Given the description of an element on the screen output the (x, y) to click on. 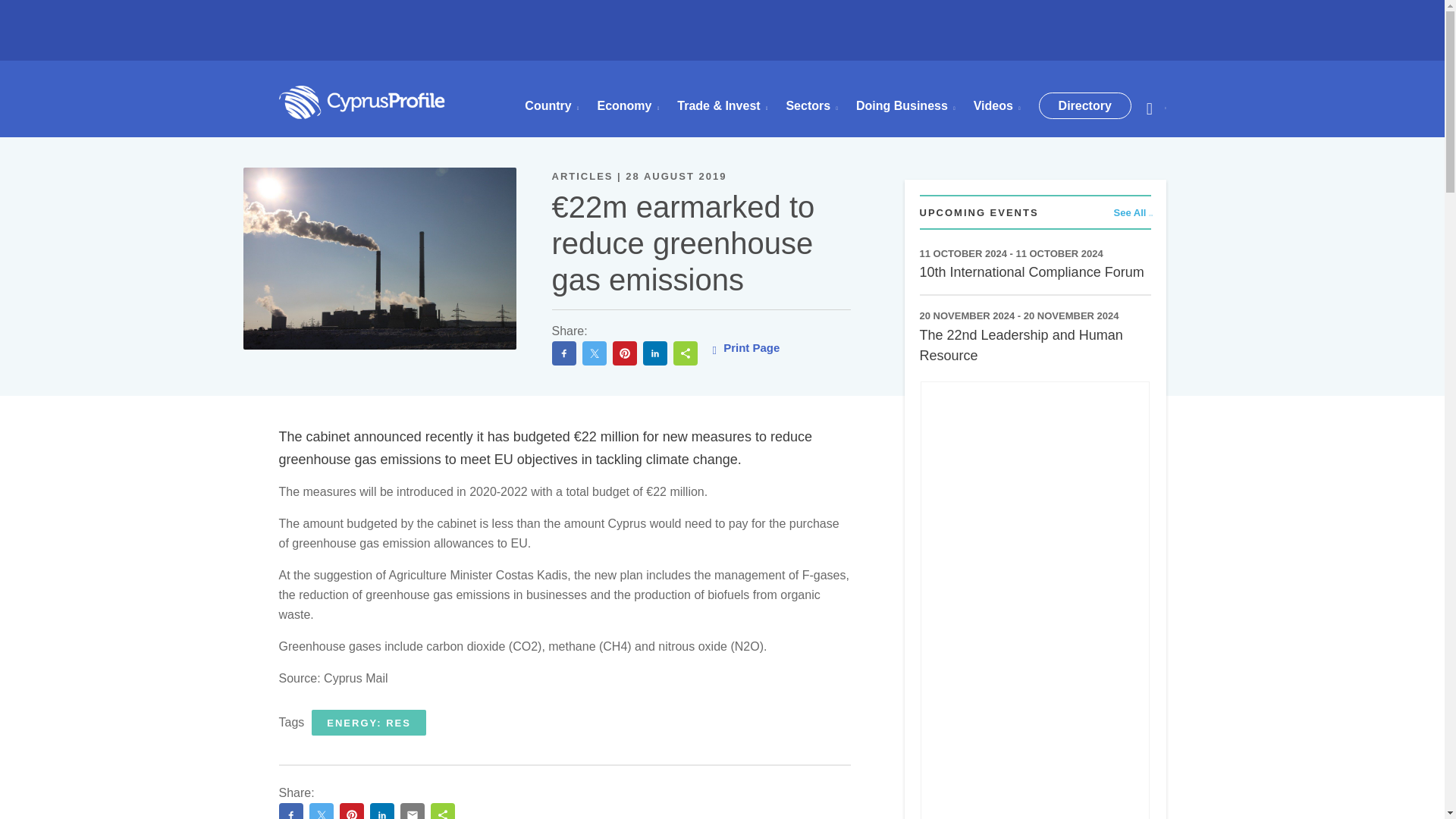
Country (551, 106)
Economy (627, 106)
3rd party ad content (722, 41)
Cyprus Profile (362, 102)
Sectors (811, 106)
